Given the description of an element on the screen output the (x, y) to click on. 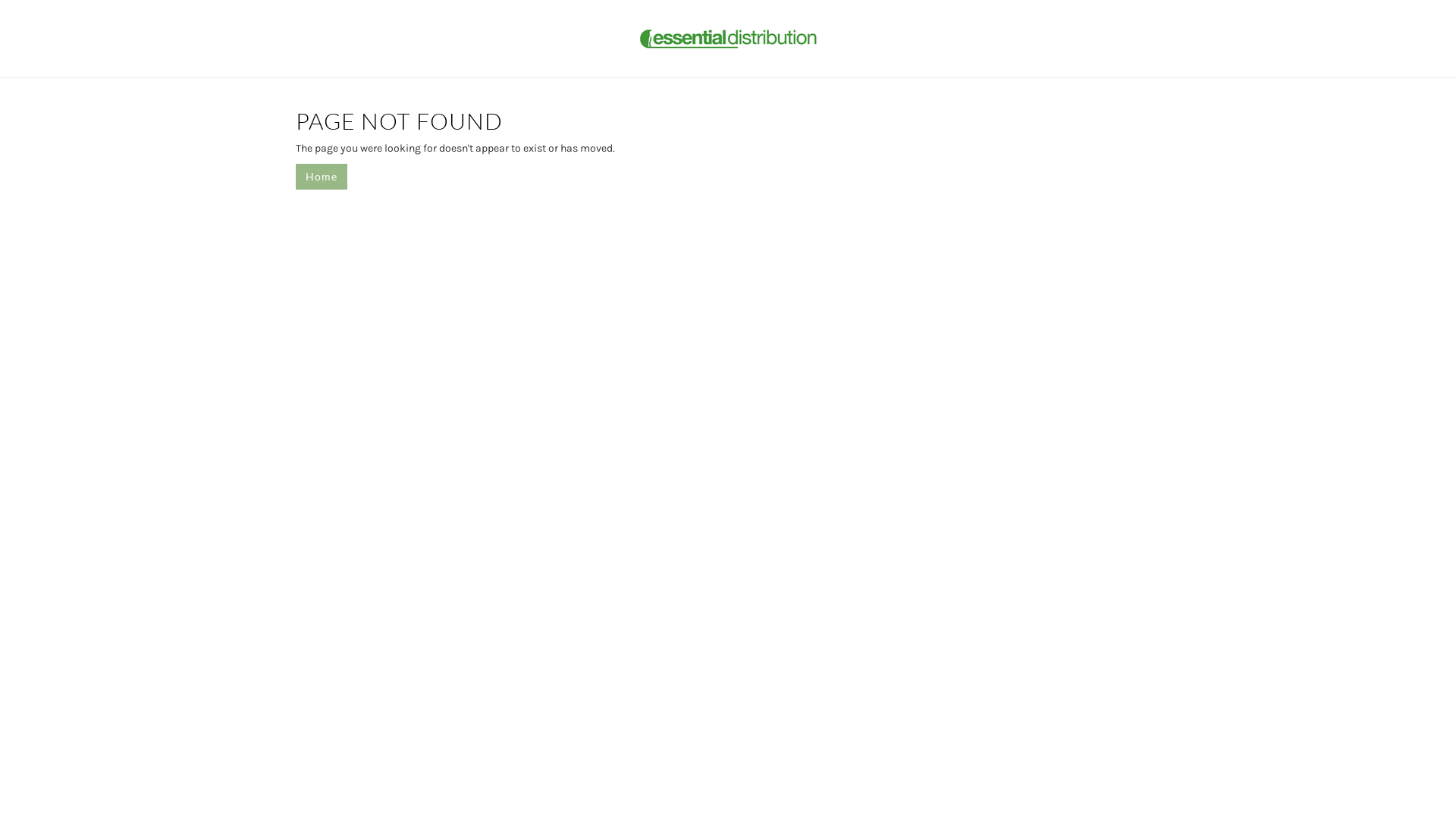
Home Element type: text (321, 176)
Essential Distribution Element type: hover (727, 37)
